Given the description of an element on the screen output the (x, y) to click on. 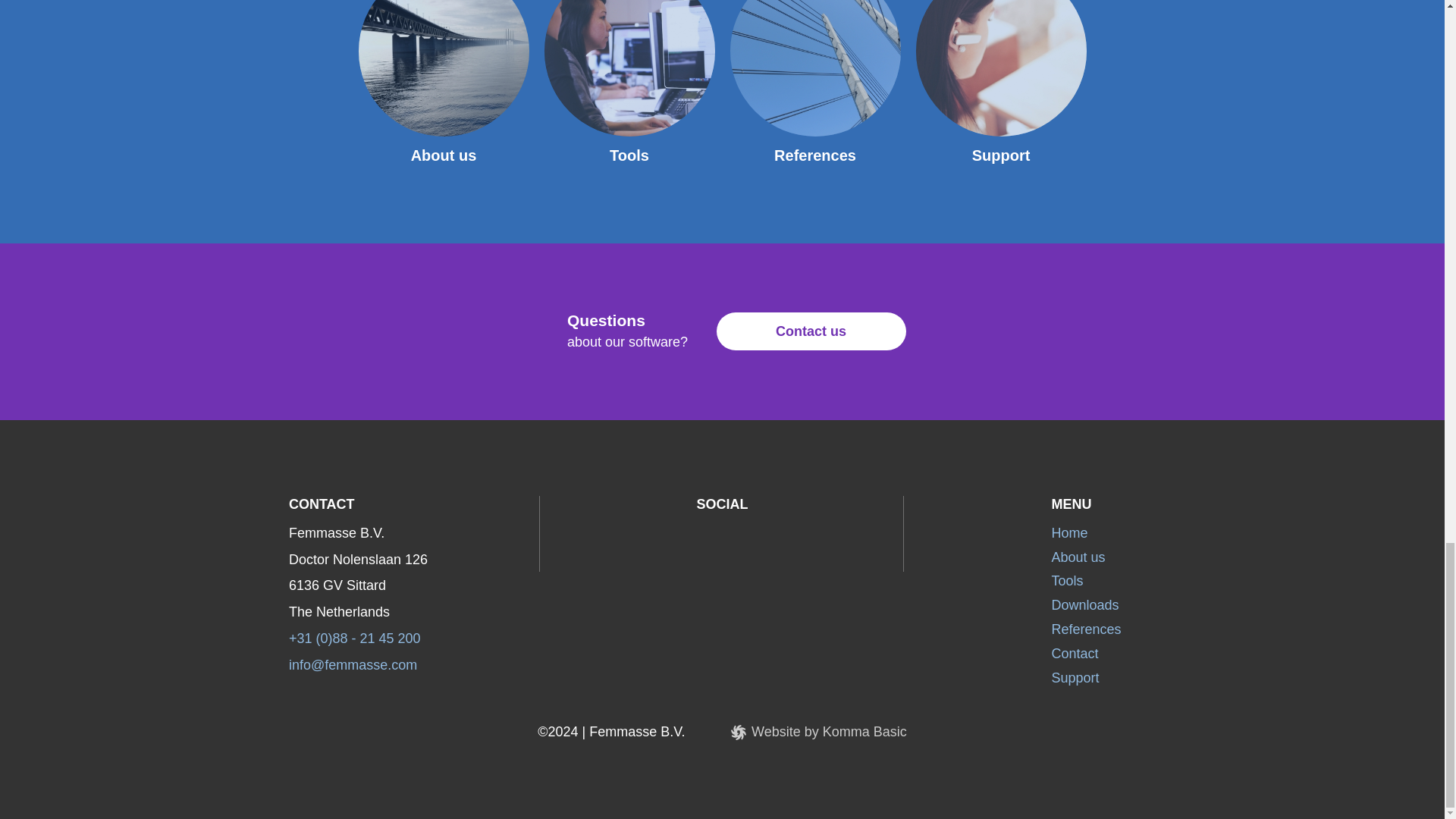
Tools (1067, 580)
Website by Komma Basic (818, 732)
About us (443, 155)
Support (1001, 155)
About us (1078, 557)
Home (1069, 532)
References (1086, 629)
Downloads (1084, 604)
Contact (1074, 653)
References (815, 155)
Support (1075, 677)
Tools (629, 155)
